Given the description of an element on the screen output the (x, y) to click on. 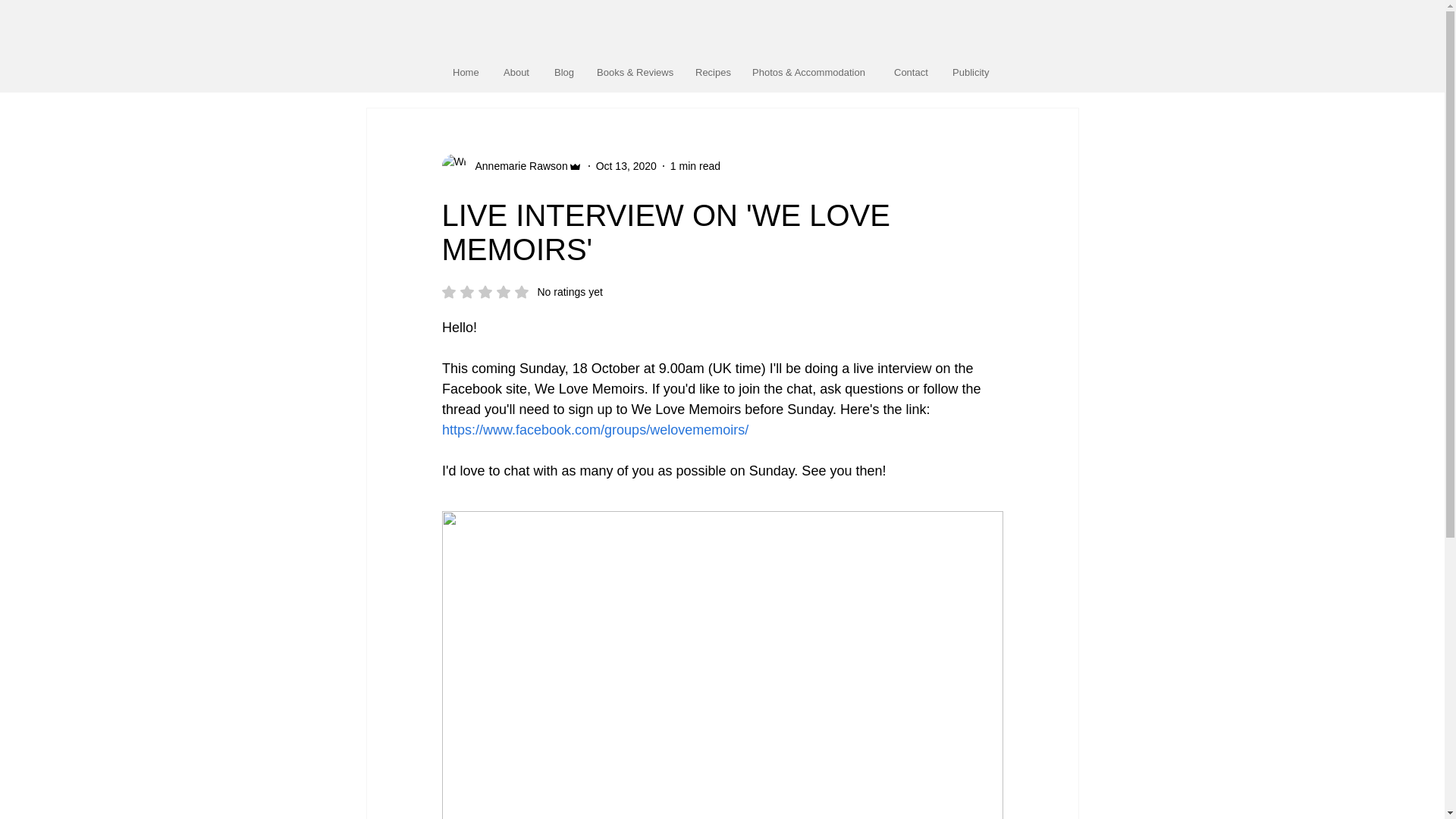
Home (466, 72)
Annemarie Rawson (516, 165)
Blog (564, 72)
Publicity (521, 291)
About (971, 72)
Contact (517, 72)
1 min read (911, 72)
Oct 13, 2020 (694, 164)
